Given the description of an element on the screen output the (x, y) to click on. 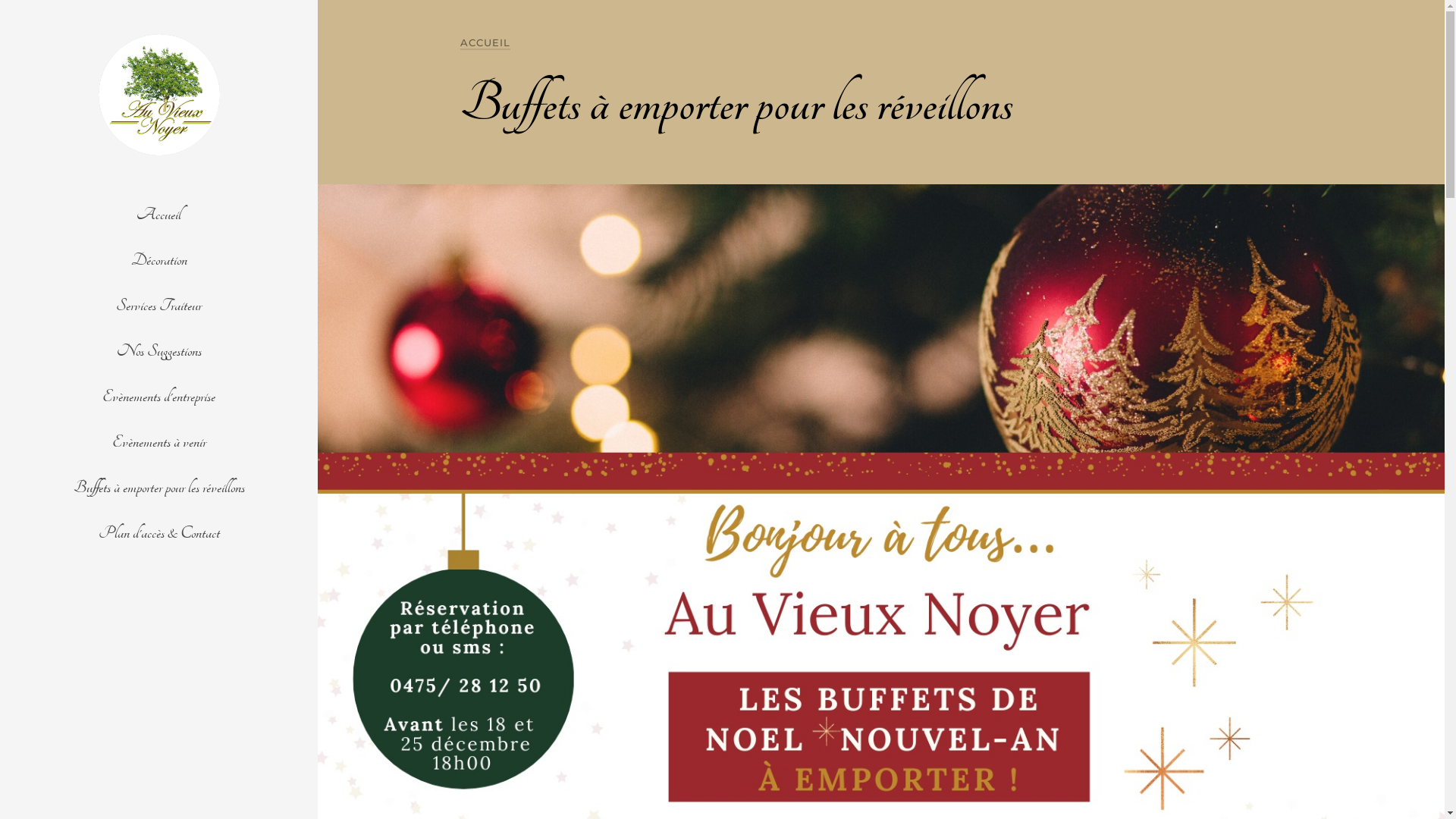
Nos Suggestions Element type: text (158, 350)
ACCUEIL Element type: text (485, 42)
Services Traiteur Element type: text (158, 305)
Accueil Element type: text (158, 214)
